Given the description of an element on the screen output the (x, y) to click on. 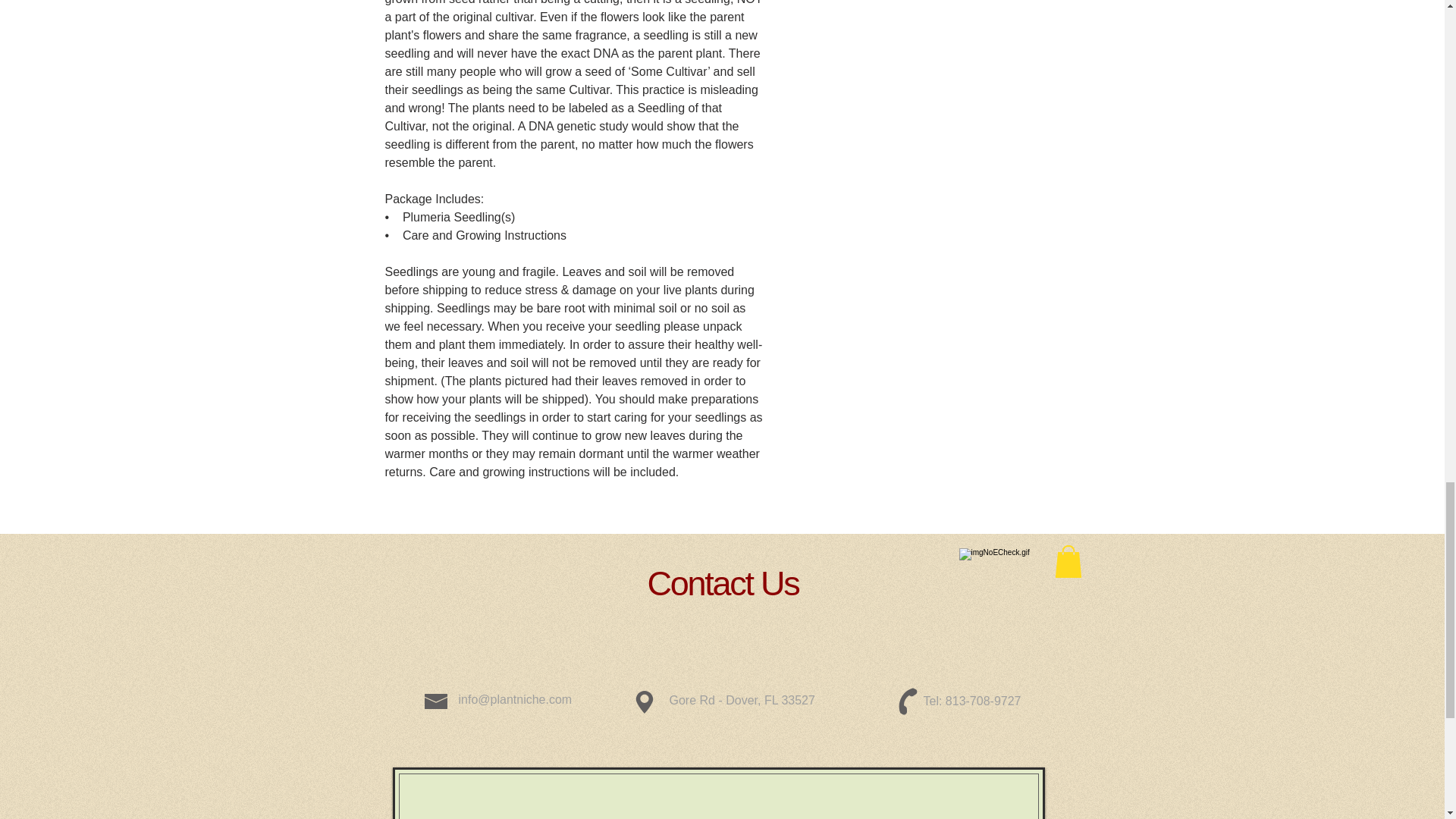
Google Maps (717, 796)
